Given the description of an element on the screen output the (x, y) to click on. 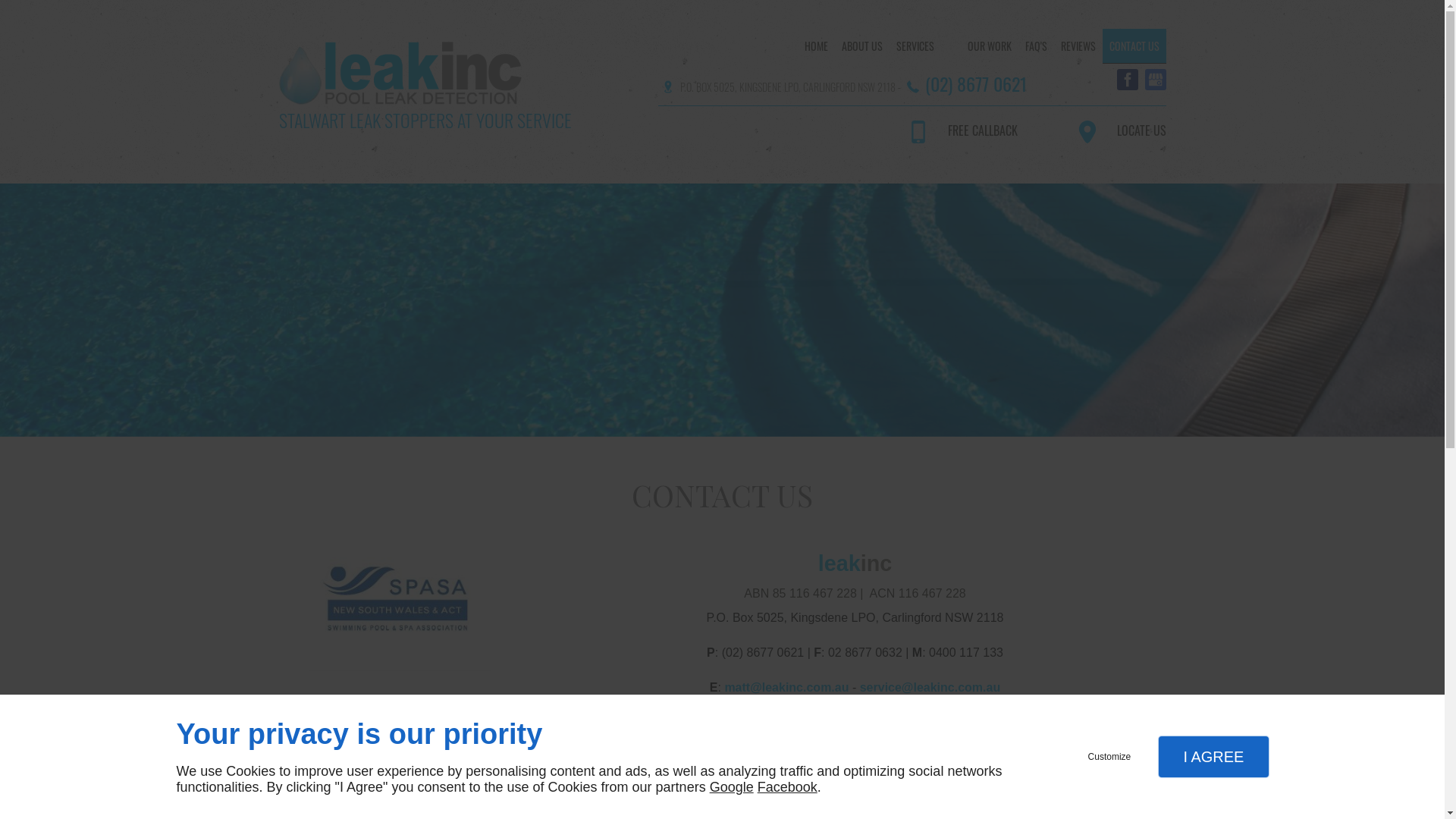
Facebook Element type: text (787, 786)
matt@leakinc.com.au Element type: text (786, 686)
HOME Element type: text (815, 45)
REVIEWS Element type: text (1078, 45)
SERVICES Element type: text (924, 45)
service@leakinc.com.au Element type: text (929, 686)
FAQ'S Element type: text (1035, 45)
Google Element type: text (731, 786)
Facebook Element type: hover (1126, 79)
OUR WORK Element type: text (988, 45)
Mybusiness Element type: hover (1155, 79)
(02) 8677 0621 Element type: text (976, 83)
FREE CALLBACK Element type: text (954, 130)
LOCATE US Element type: text (1113, 130)
STALWART LEAK STOPPERS AT YOUR SERVICE Element type: text (457, 87)
ABOUT US Element type: text (861, 45)
CONTACT US Element type: text (1134, 45)
